Given the description of an element on the screen output the (x, y) to click on. 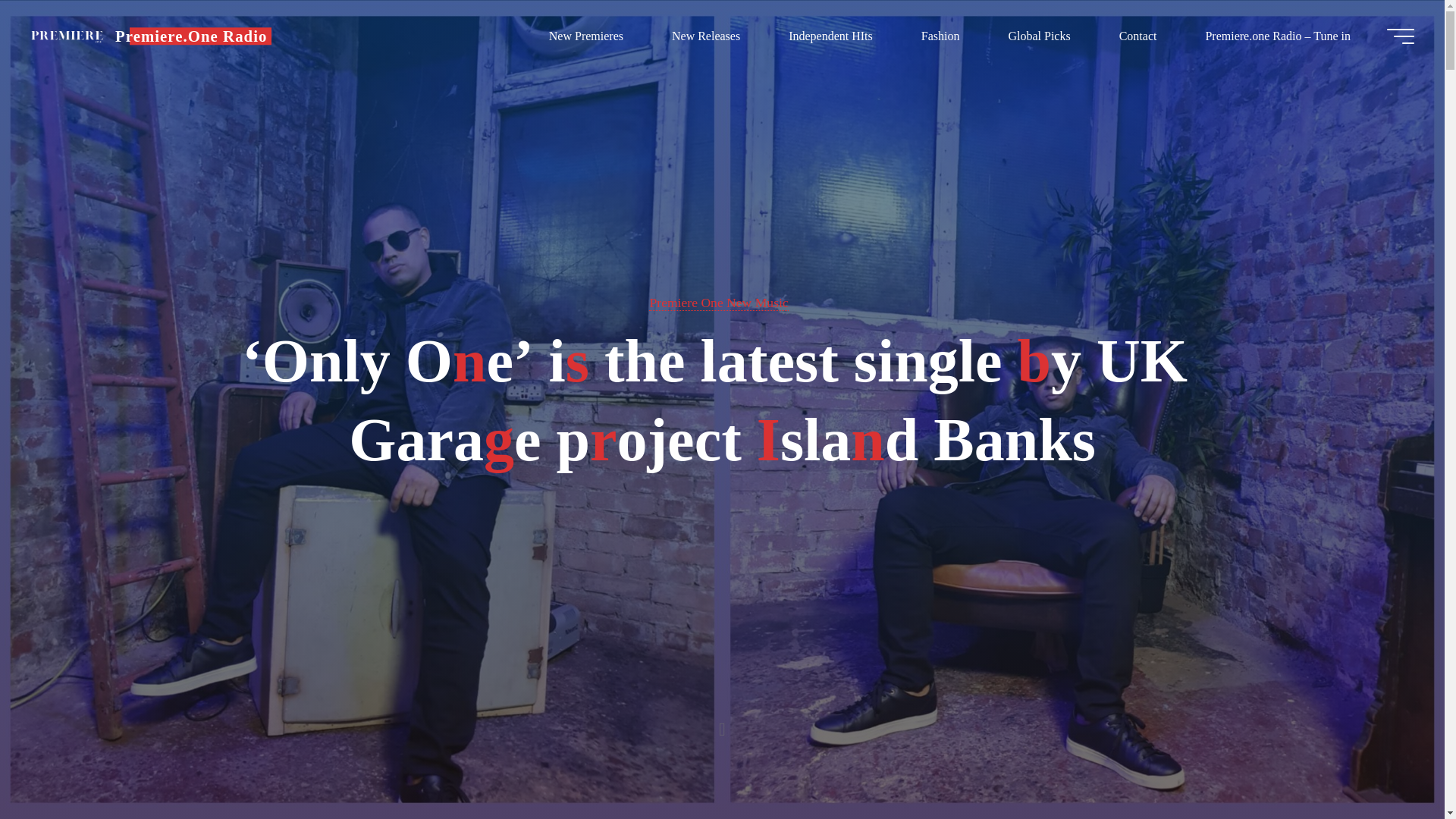
New Premieres (585, 35)
Contact (1137, 35)
Read more (721, 724)
Premiere.One Radio (67, 35)
Independent HIts (830, 35)
Global Music News, Fashion and New Music Radio  (190, 36)
Premiere.One Radio (190, 36)
New Releases (705, 35)
Fashion (940, 35)
Premiere One New Music (718, 302)
Global Picks (1039, 35)
